Given the description of an element on the screen output the (x, y) to click on. 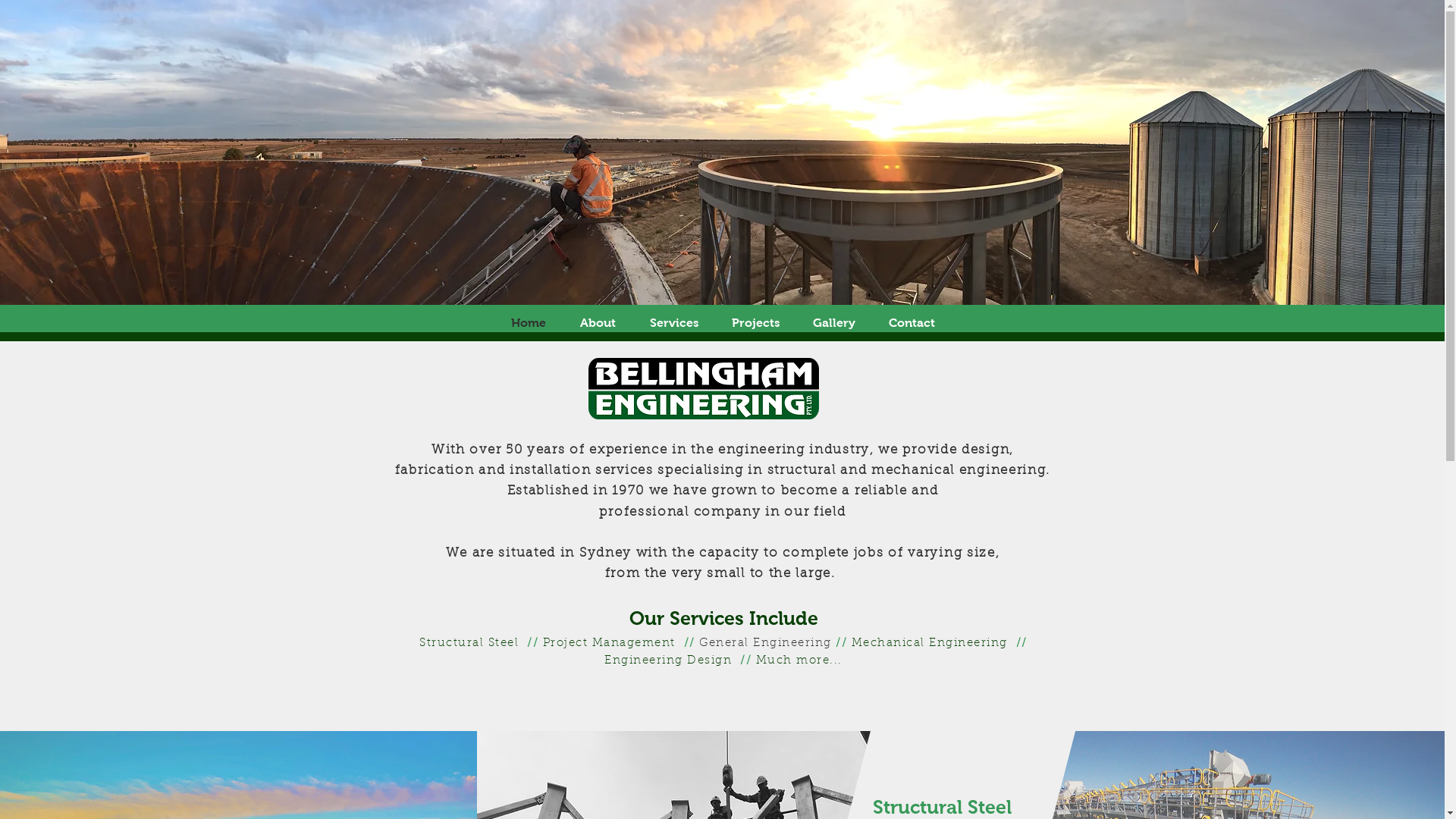
About Element type: text (597, 322)
Home Element type: text (528, 322)
Services Element type: text (673, 322)
Projects Element type: text (754, 322)
Gallery Element type: text (834, 322)
BELLINGHAM ENGINEERING.png Element type: hover (703, 388)
Contact Element type: text (911, 322)
